Given the description of an element on the screen output the (x, y) to click on. 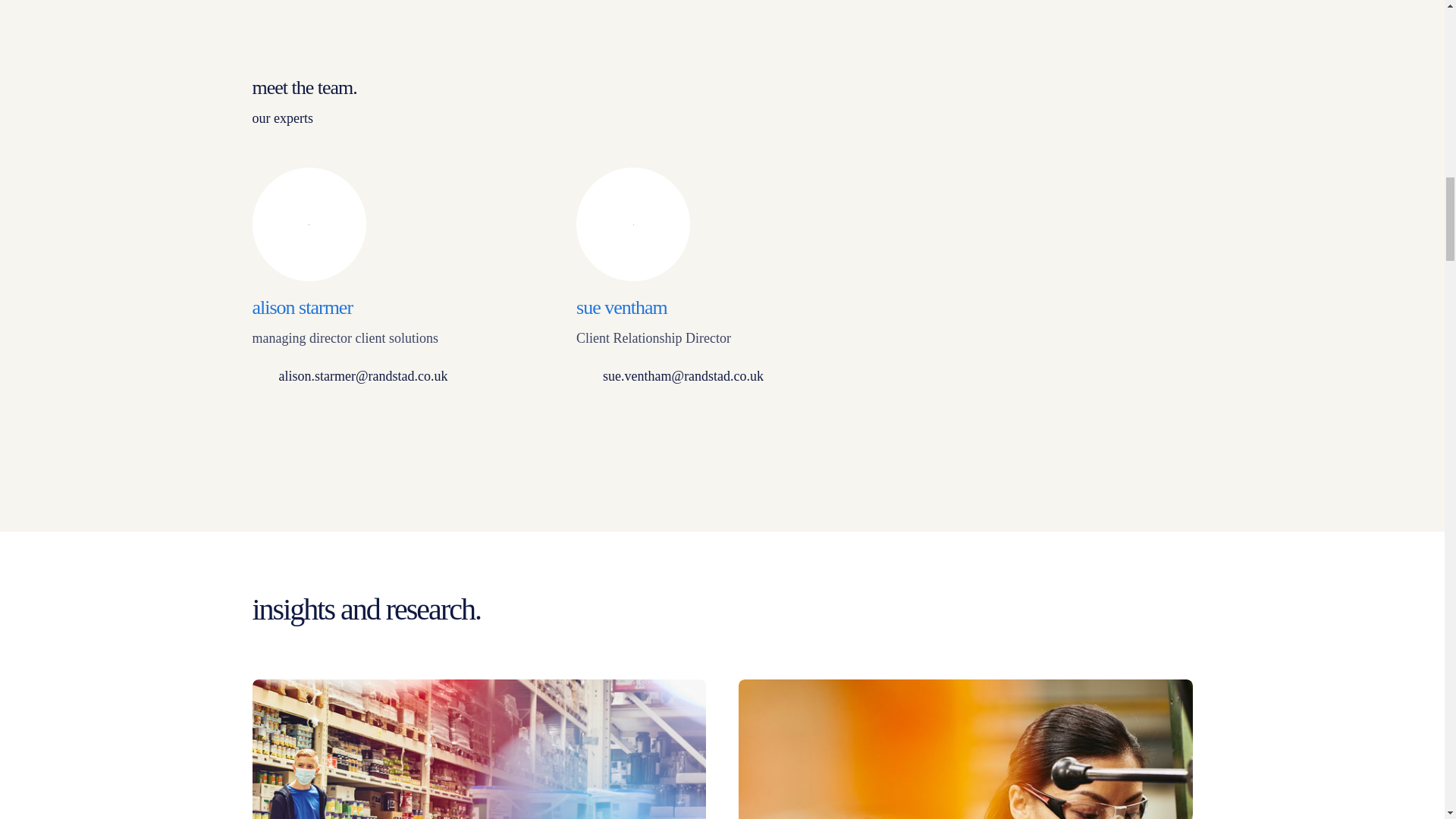
Sue Ventham linkedin link (587, 421)
gen z manufacturing recruitment (478, 749)
woman in manufacturing industry (965, 749)
Alison Starmer linkedin link (263, 421)
